Given the description of an element on the screen output the (x, y) to click on. 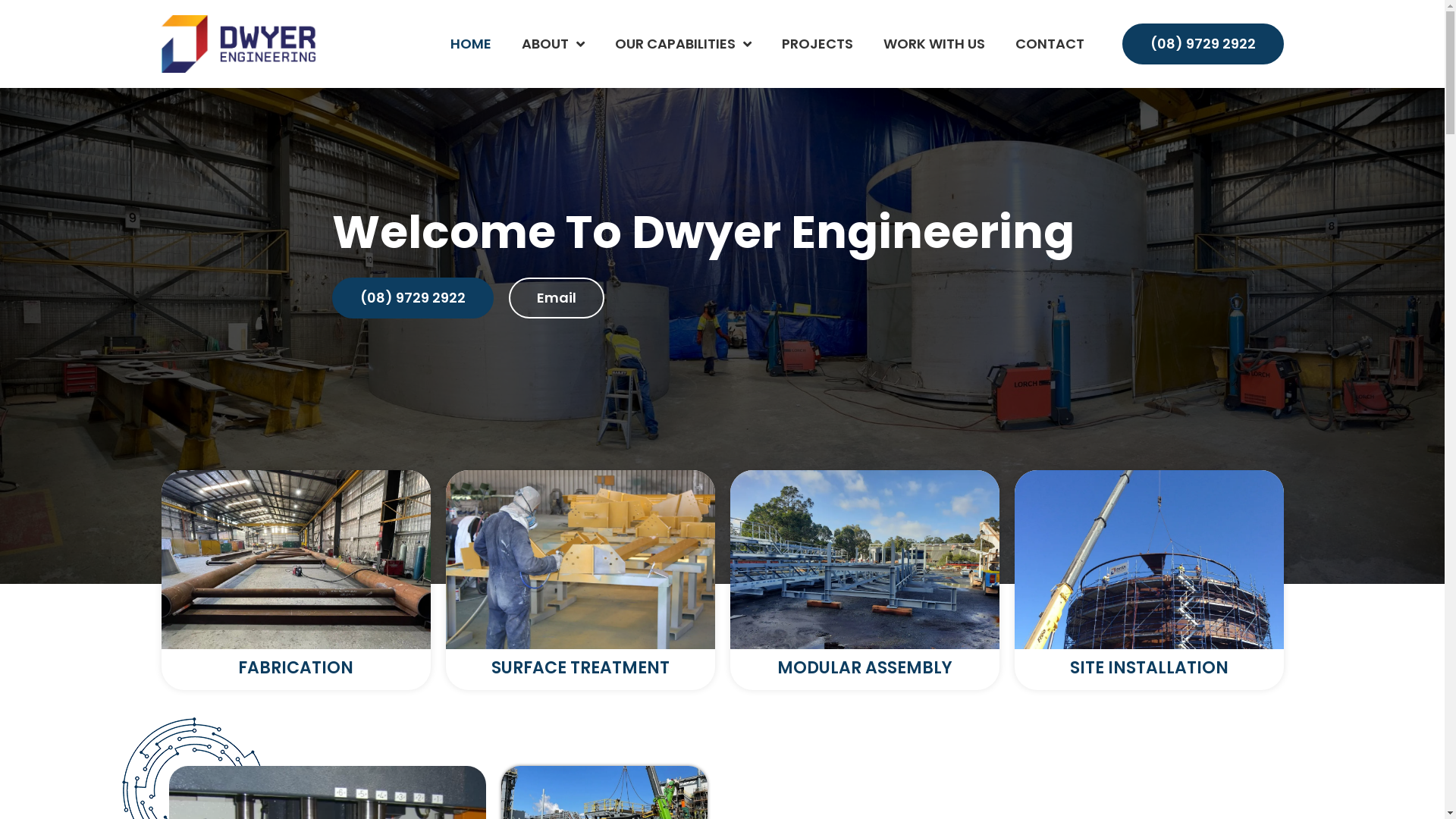
ABOUT Element type: text (552, 43)
CONTACT Element type: text (1048, 43)
OUR CAPABILITIES Element type: text (682, 43)
(08) 9729 2922 Element type: text (412, 297)
(08) 9729 2922 Element type: text (1202, 43)
HOME Element type: text (470, 43)
WORK WITH US Element type: text (933, 43)
PROJECTS Element type: text (816, 43)
Email Element type: text (555, 297)
